Given the description of an element on the screen output the (x, y) to click on. 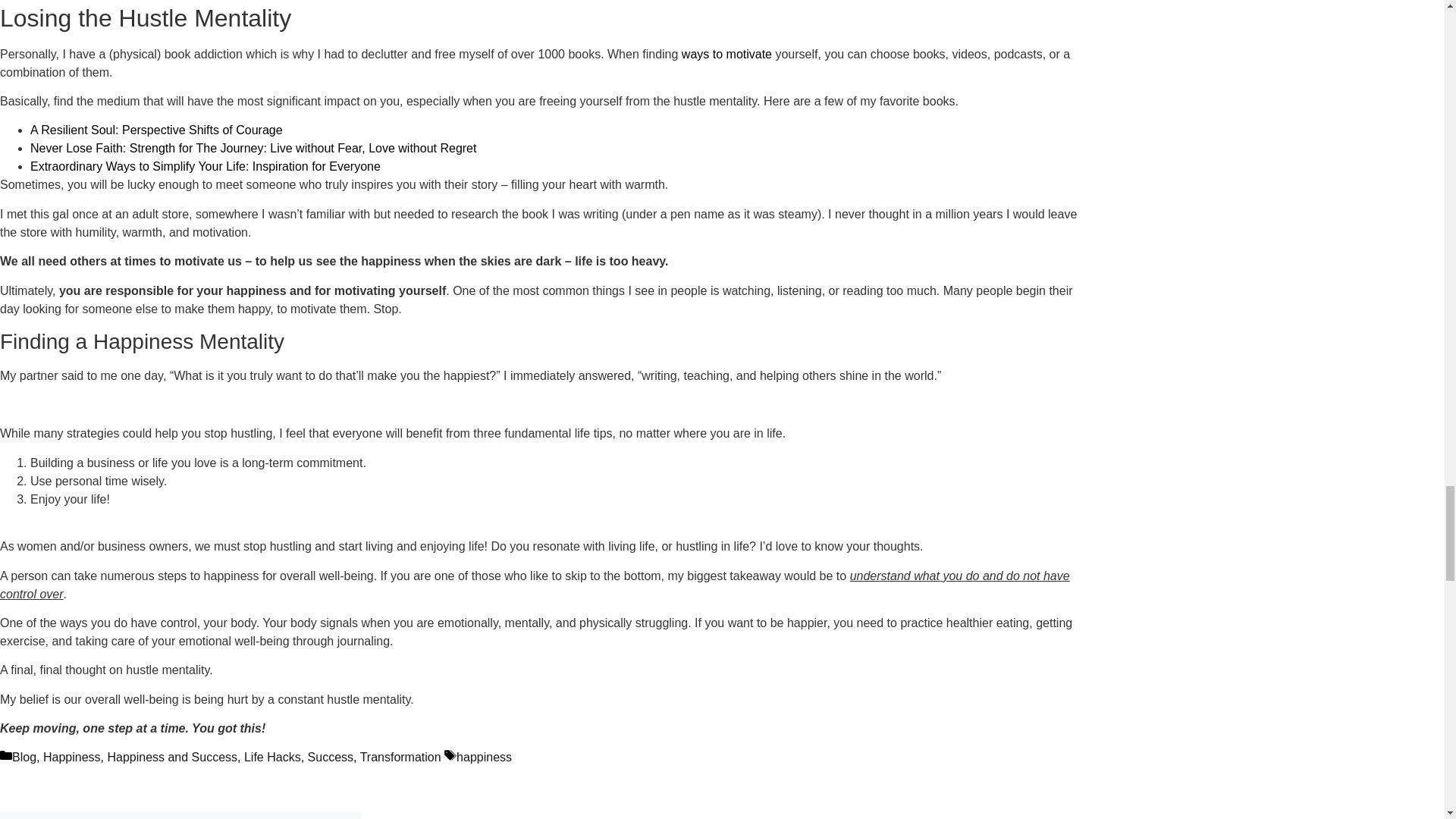
ways to motivate (726, 53)
Happiness and Success (171, 757)
Success (330, 757)
Blog (23, 757)
Transformation (400, 757)
Life Hacks (272, 757)
happiness (484, 757)
A Resilient Soul: Perspective Shifts of Courage (156, 129)
Happiness (71, 757)
